Given the description of an element on the screen output the (x, y) to click on. 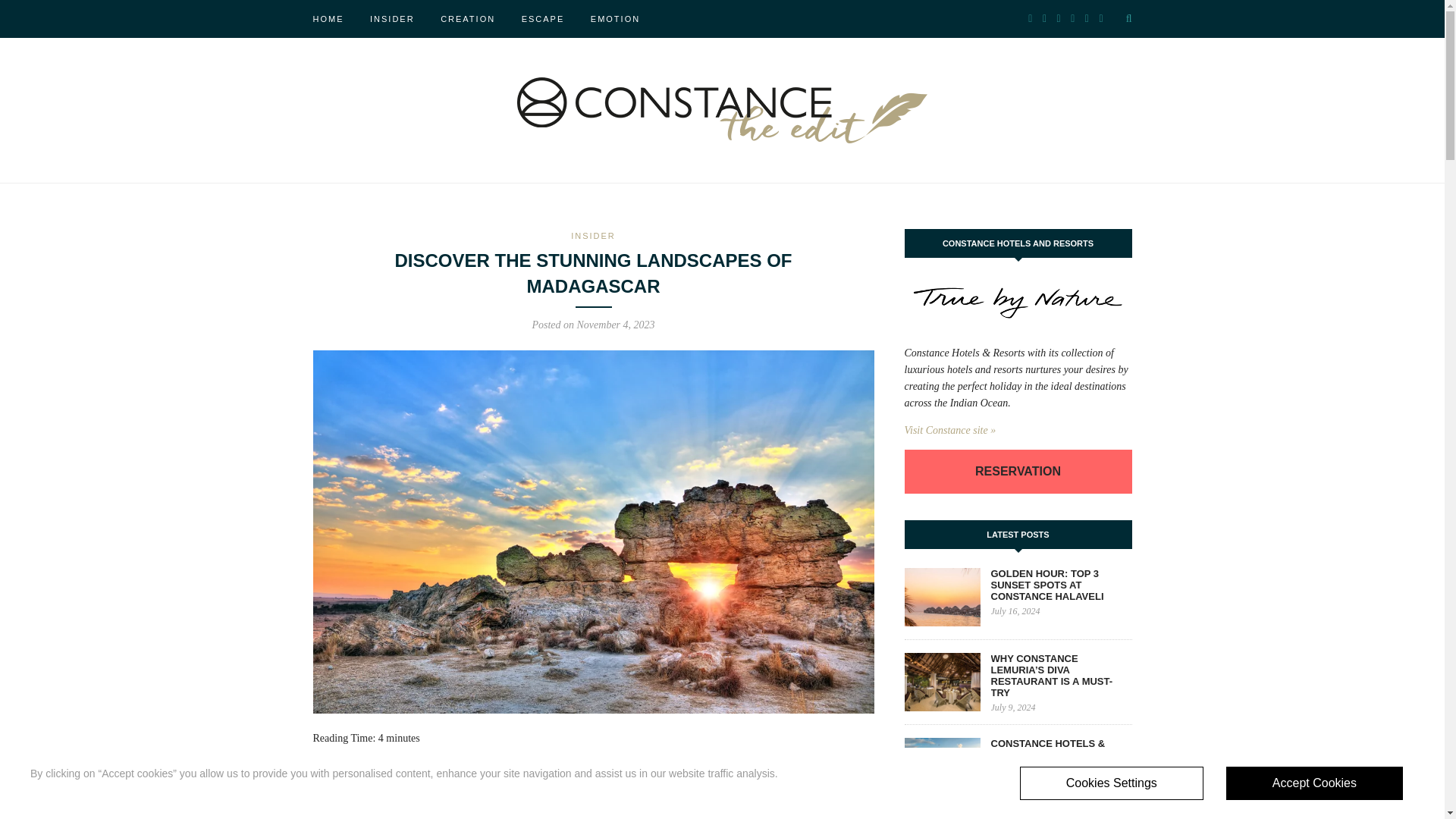
INSIDER (592, 235)
CREATION (468, 18)
ESCAPE (542, 18)
Cookies Settings (1112, 783)
Accept Cookies (1314, 783)
EMOTION (615, 18)
HOME (328, 18)
INSIDER (391, 18)
